Given the description of an element on the screen output the (x, y) to click on. 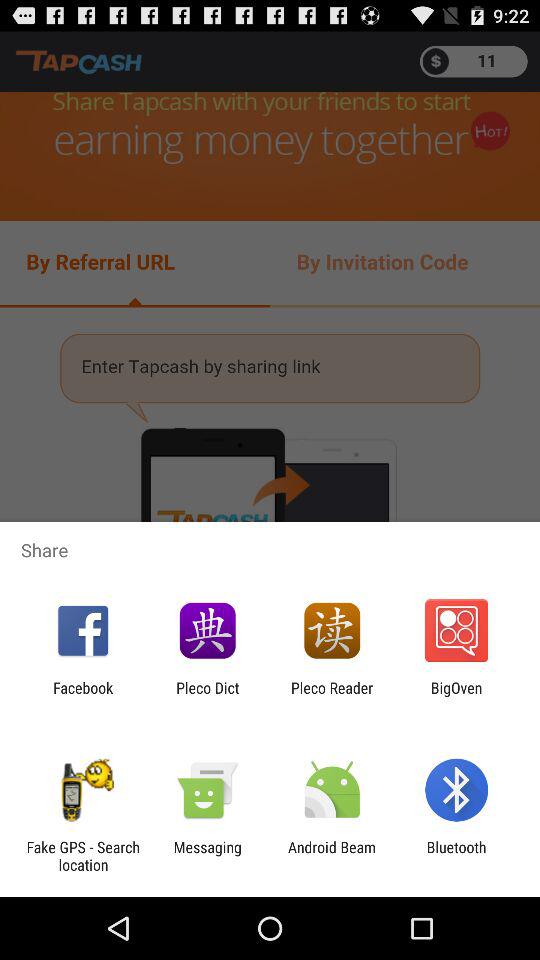
choose the pleco dict app (207, 696)
